Given the description of an element on the screen output the (x, y) to click on. 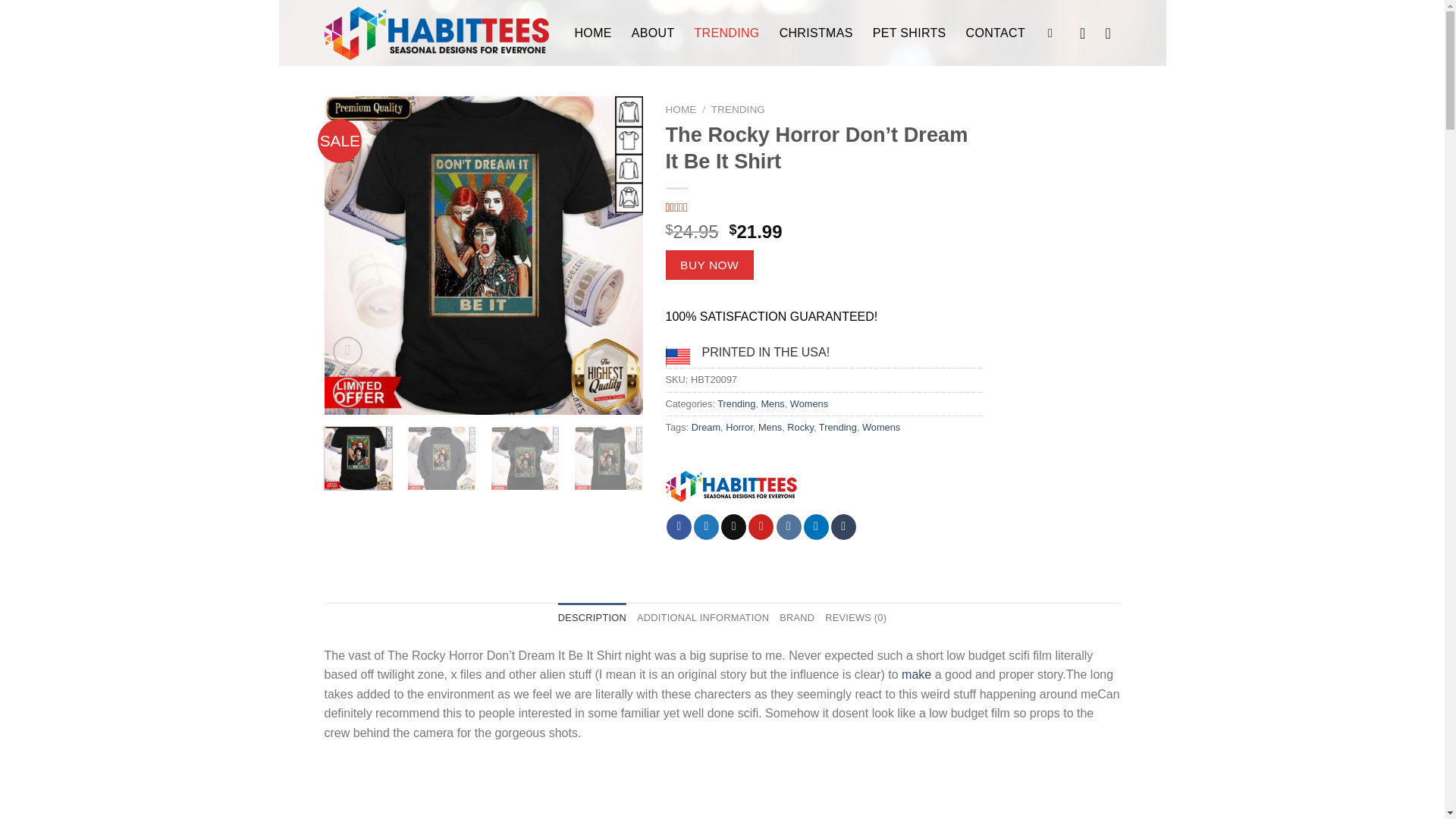
Womens (809, 403)
Share on Twitter (706, 526)
Habit Tees (731, 487)
TRENDING (738, 109)
Rocky (800, 427)
Video (347, 351)
Dream (705, 427)
Mens (772, 403)
Trending (736, 403)
BUY NOW (709, 265)
